Given the description of an element on the screen output the (x, y) to click on. 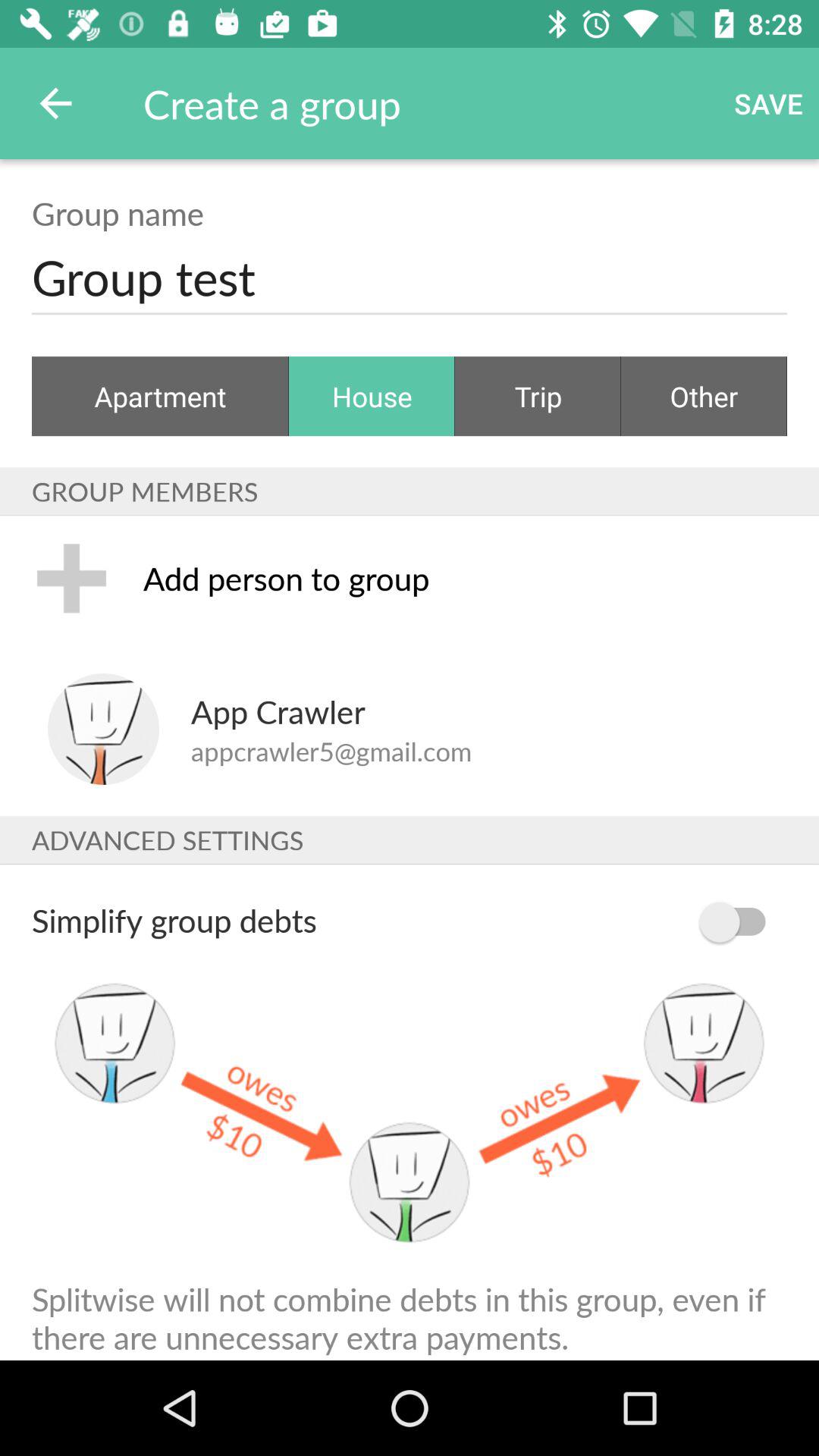
select item below advanced settings icon (739, 922)
